Given the description of an element on the screen output the (x, y) to click on. 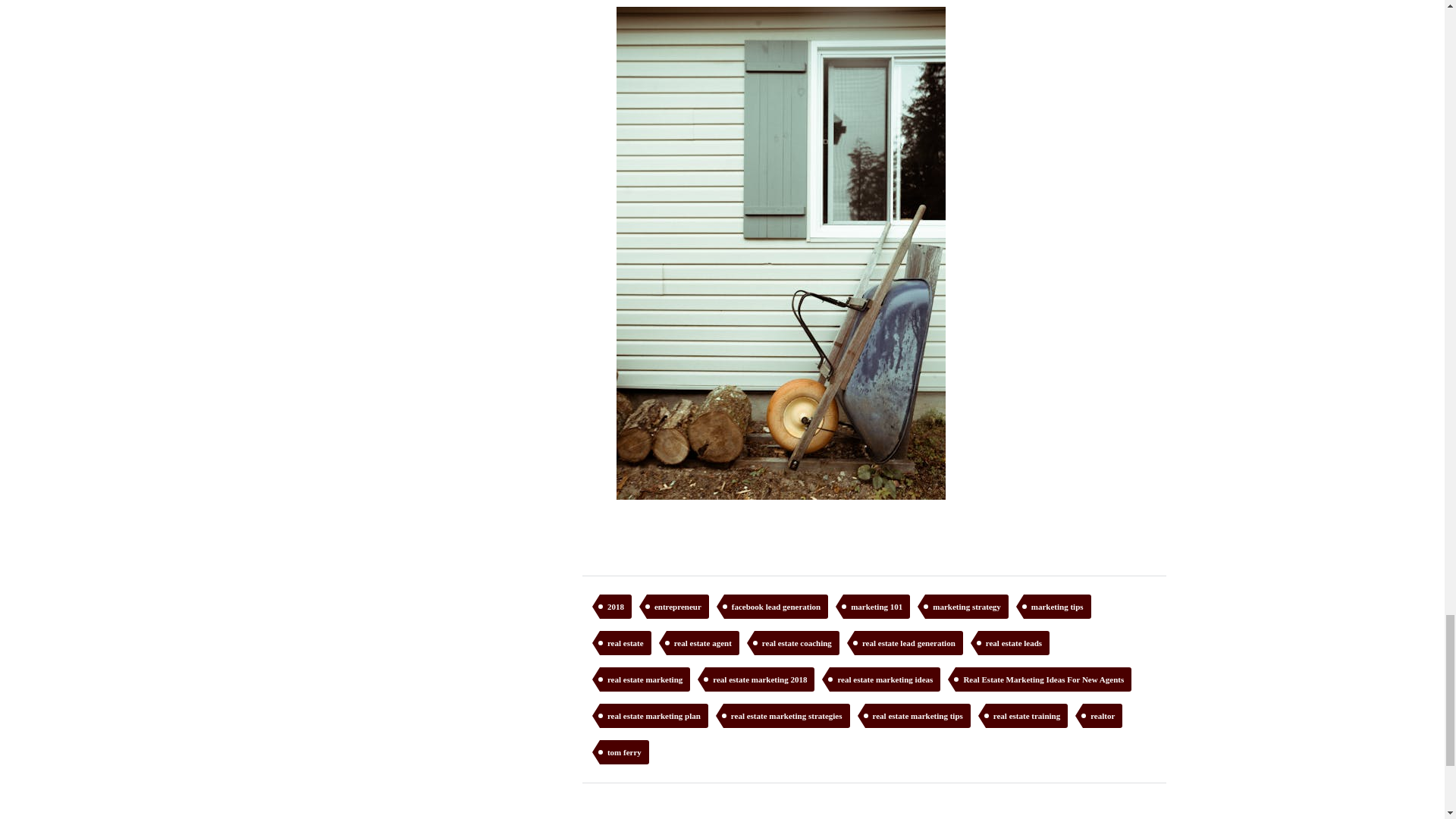
marketing strategy (966, 606)
entrepreneur (677, 606)
real estate coaching (797, 642)
real estate agent (702, 642)
real estate (624, 642)
marketing 101 (876, 606)
marketing tips (1056, 606)
facebook lead generation (775, 606)
2018 (615, 606)
